Given the description of an element on the screen output the (x, y) to click on. 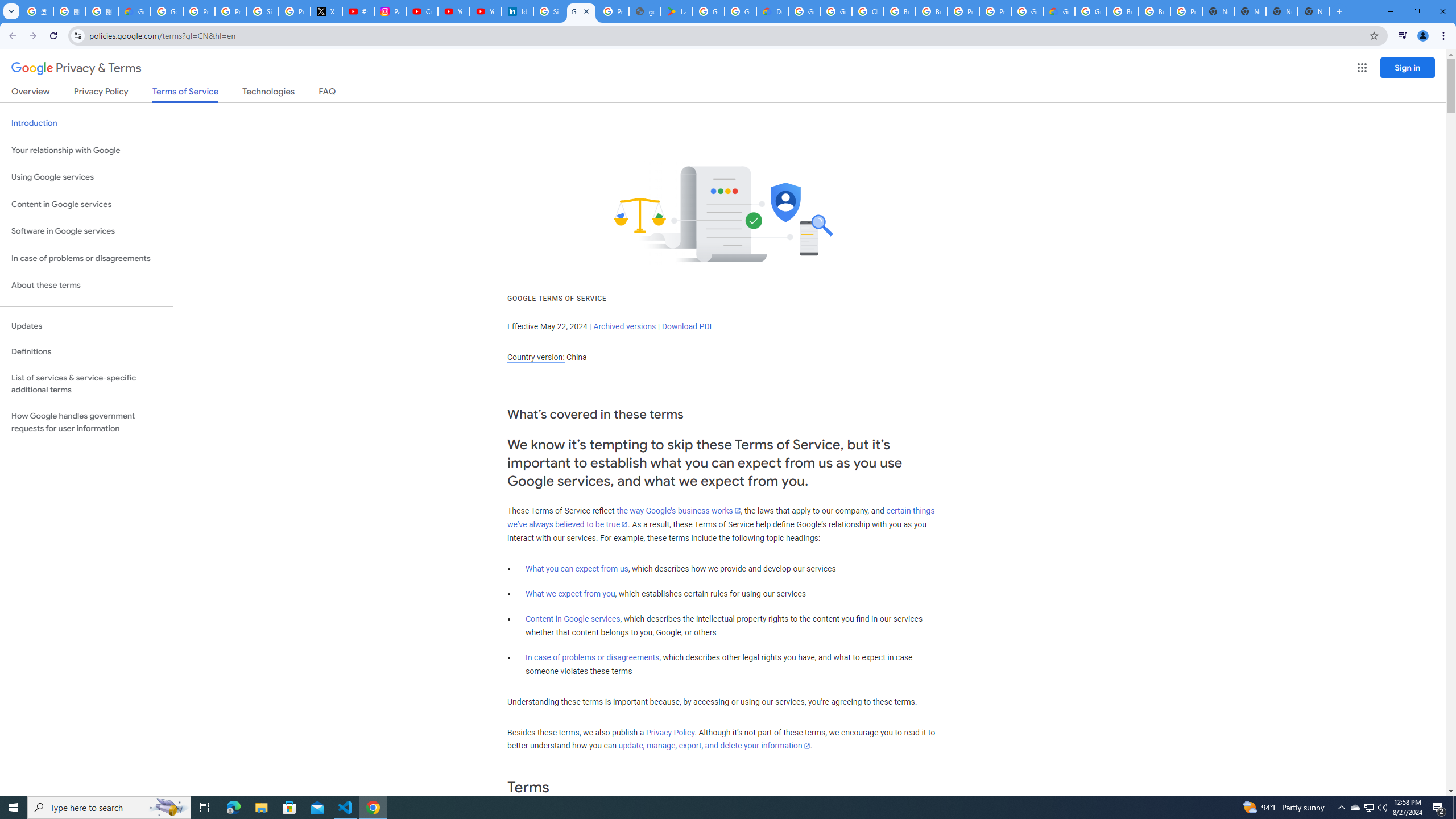
X (326, 11)
Your relationship with Google (86, 150)
Last Shelter: Survival - Apps on Google Play (676, 11)
